Given the description of an element on the screen output the (x, y) to click on. 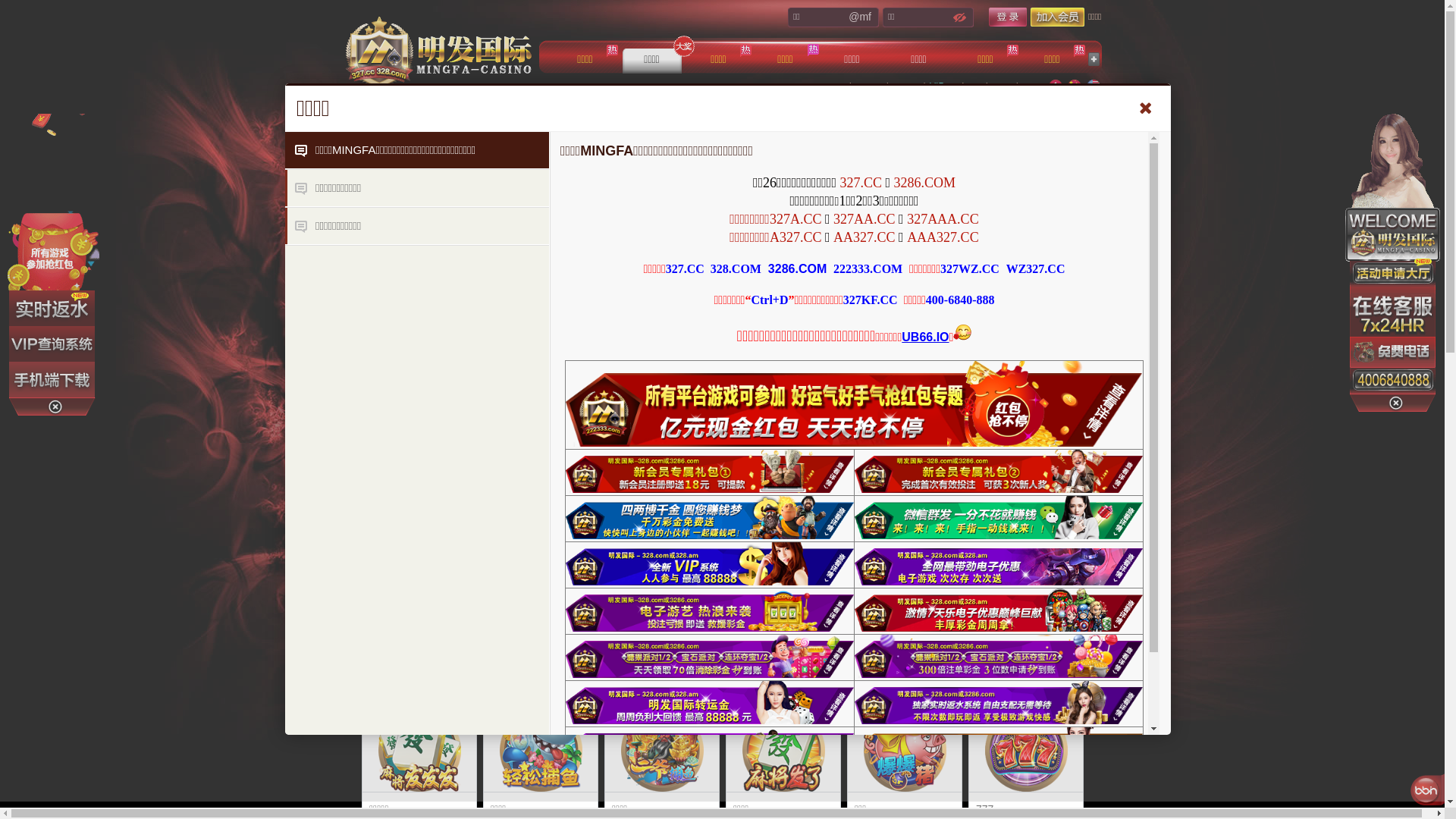
UB66.IO Element type: text (924, 336)
English Element type: hover (1098, 86)
327KF.CC Element type: text (870, 299)
